Given the description of an element on the screen output the (x, y) to click on. 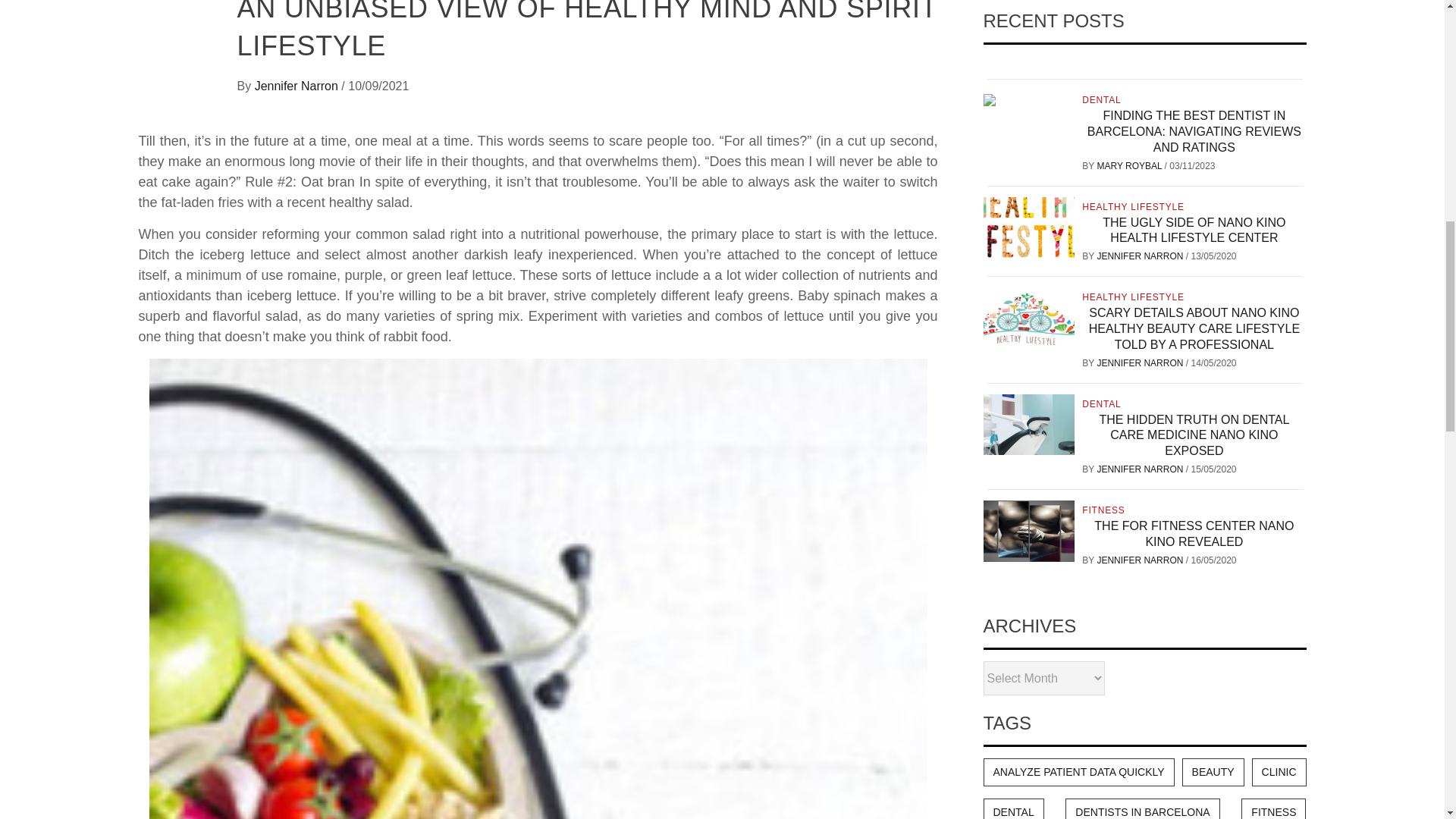
Jennifer Narron (298, 85)
